Given the description of an element on the screen output the (x, y) to click on. 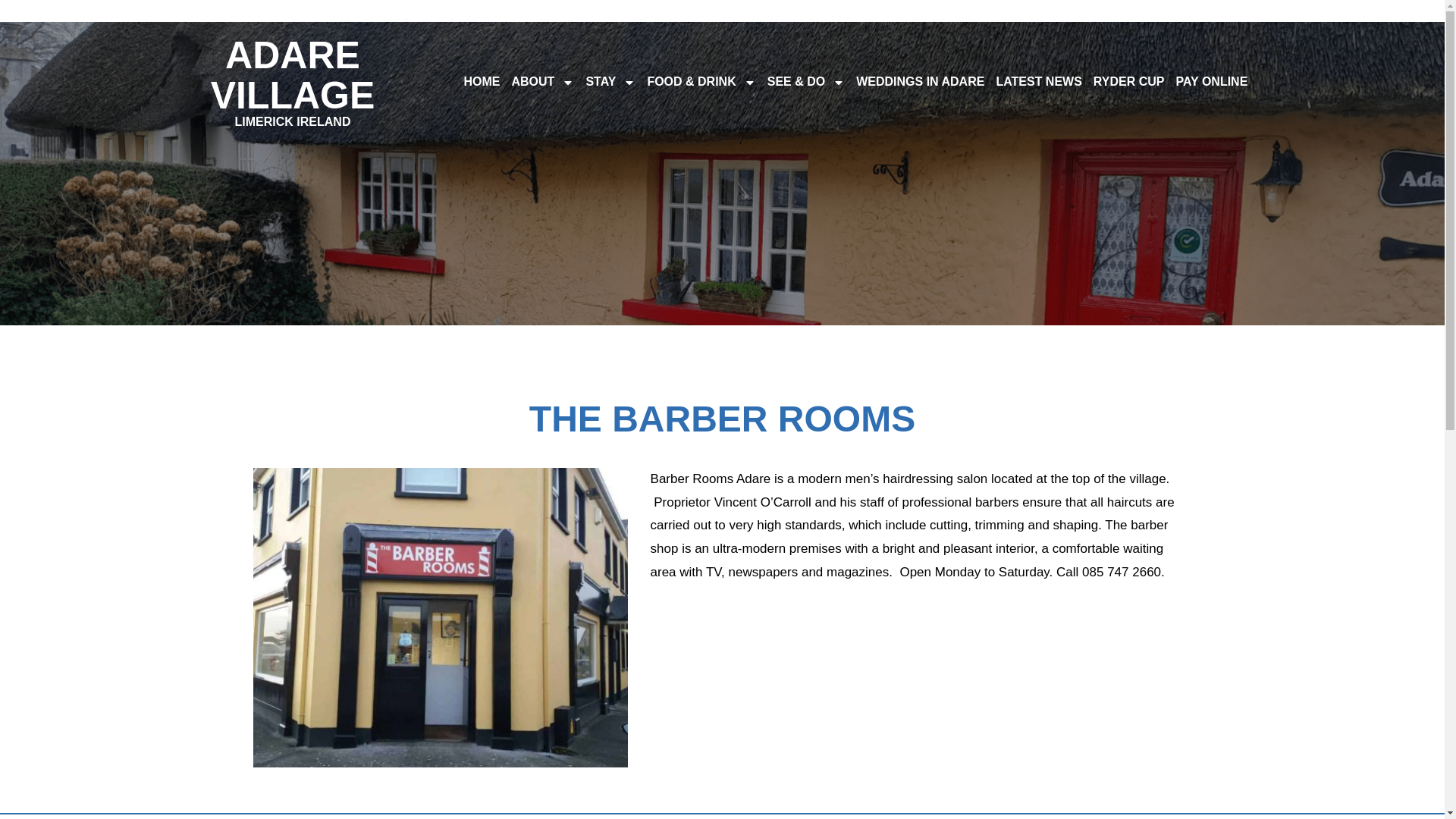
barber-room-pic-3 (440, 616)
HOME (481, 82)
RYDER CUP (293, 80)
STAY (1128, 82)
PAY ONLINE (609, 82)
ABOUT (1210, 82)
LATEST NEWS (542, 82)
WEDDINGS IN ADARE (1038, 82)
